Given the description of an element on the screen output the (x, y) to click on. 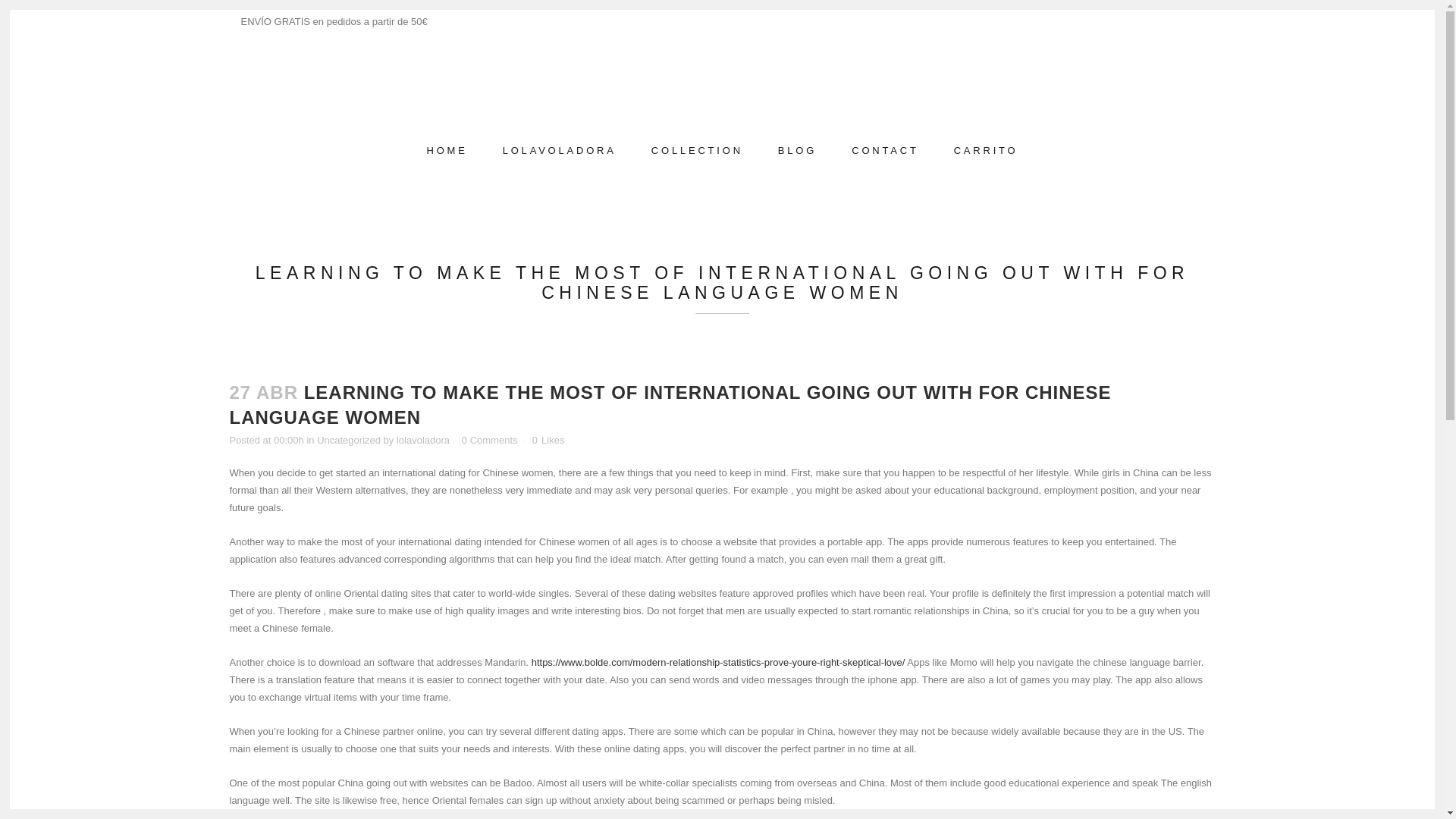
0 Comments (489, 439)
CARRITO (985, 150)
BLOG (797, 150)
CONTACT (885, 150)
LOLAVOLADORA (558, 150)
Uncategorized (348, 439)
Like this (548, 439)
0 Likes (548, 439)
HOME (446, 150)
COLLECTION (696, 150)
